Given the description of an element on the screen output the (x, y) to click on. 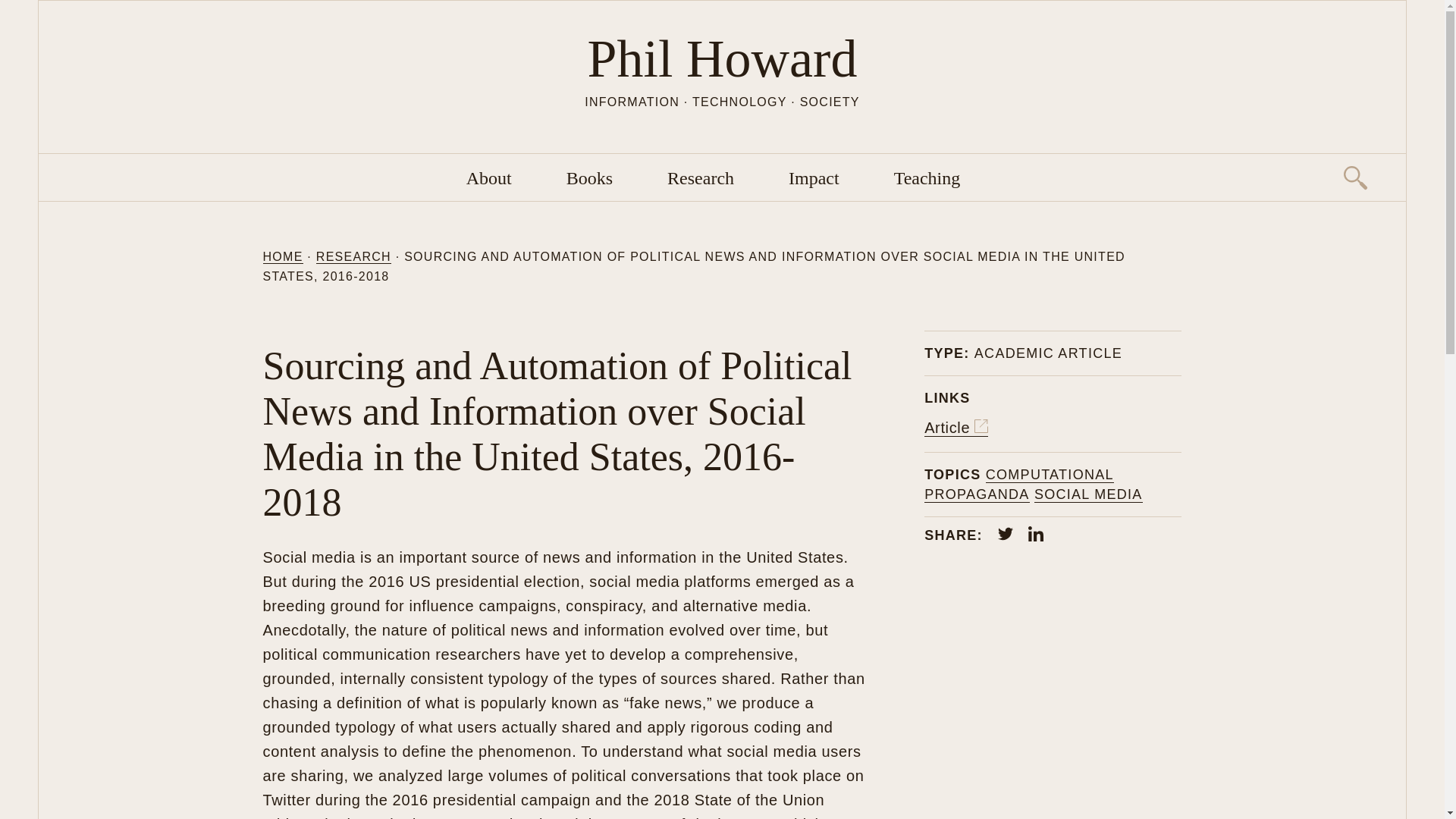
COMPUTATIONAL PROPAGANDA (1018, 484)
Books (589, 178)
Article (956, 427)
Research (699, 178)
Teaching (926, 178)
SOCIAL MEDIA (1087, 494)
Phil Howard (722, 58)
About (488, 178)
Impact (814, 178)
HOME (282, 256)
RESEARCH (353, 256)
